Given the description of an element on the screen output the (x, y) to click on. 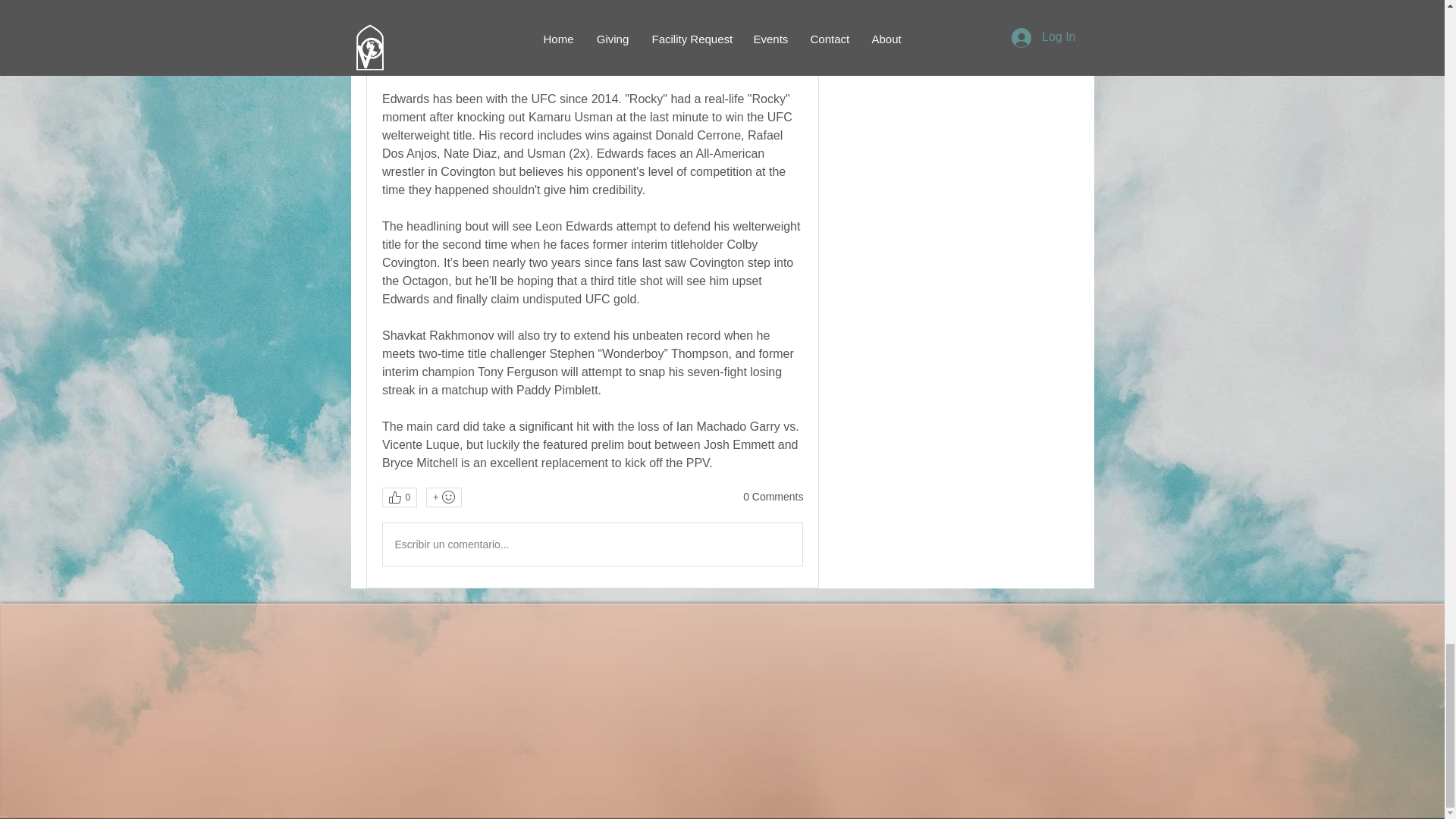
Escribir un comentario... (591, 544)
0 Comments (772, 497)
